Given the description of an element on the screen output the (x, y) to click on. 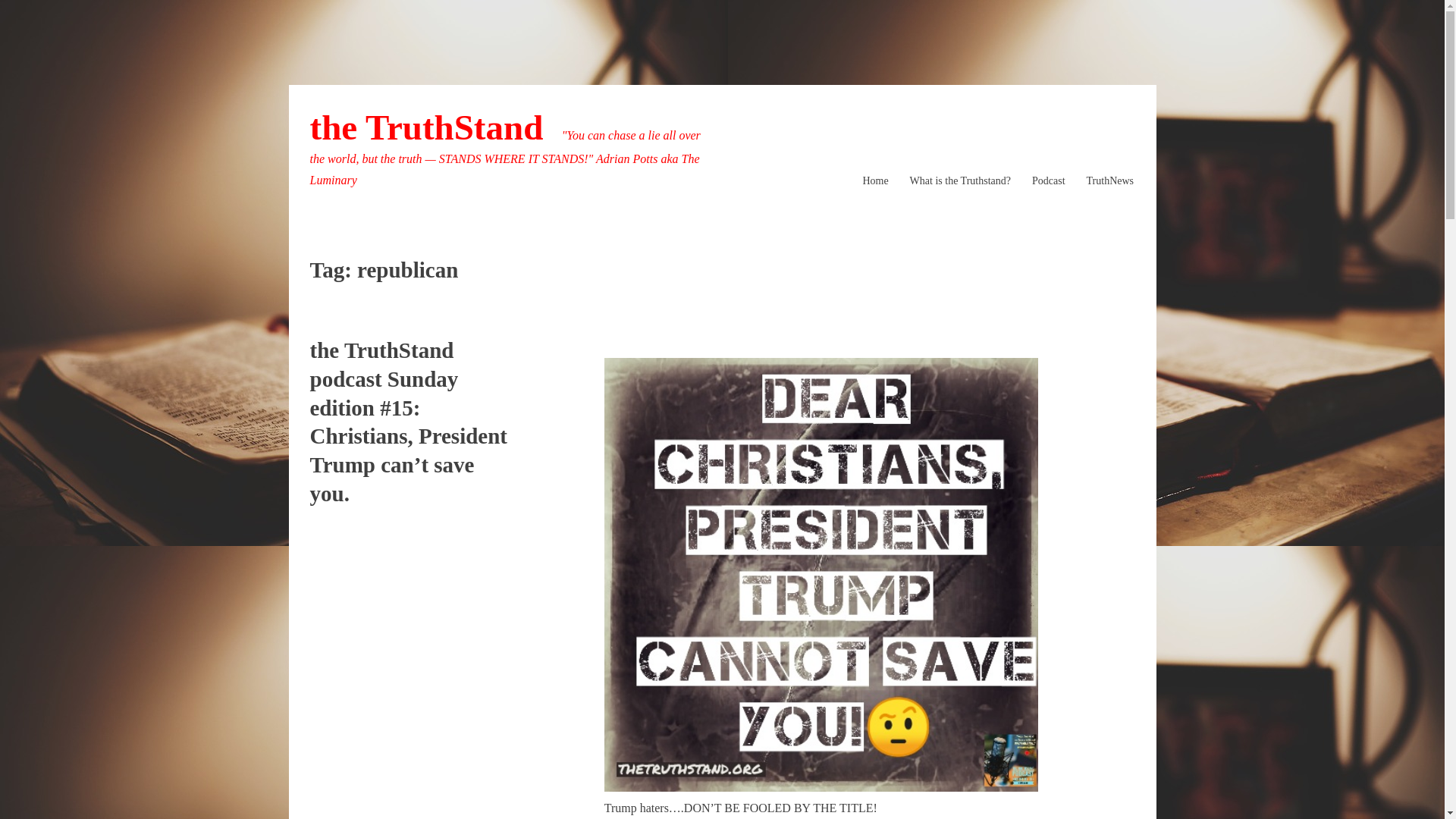
TruthNews (1110, 180)
the TruthStand (425, 127)
Podcast (1048, 180)
Home (874, 180)
What is the Truthstand? (960, 180)
